Given the description of an element on the screen output the (x, y) to click on. 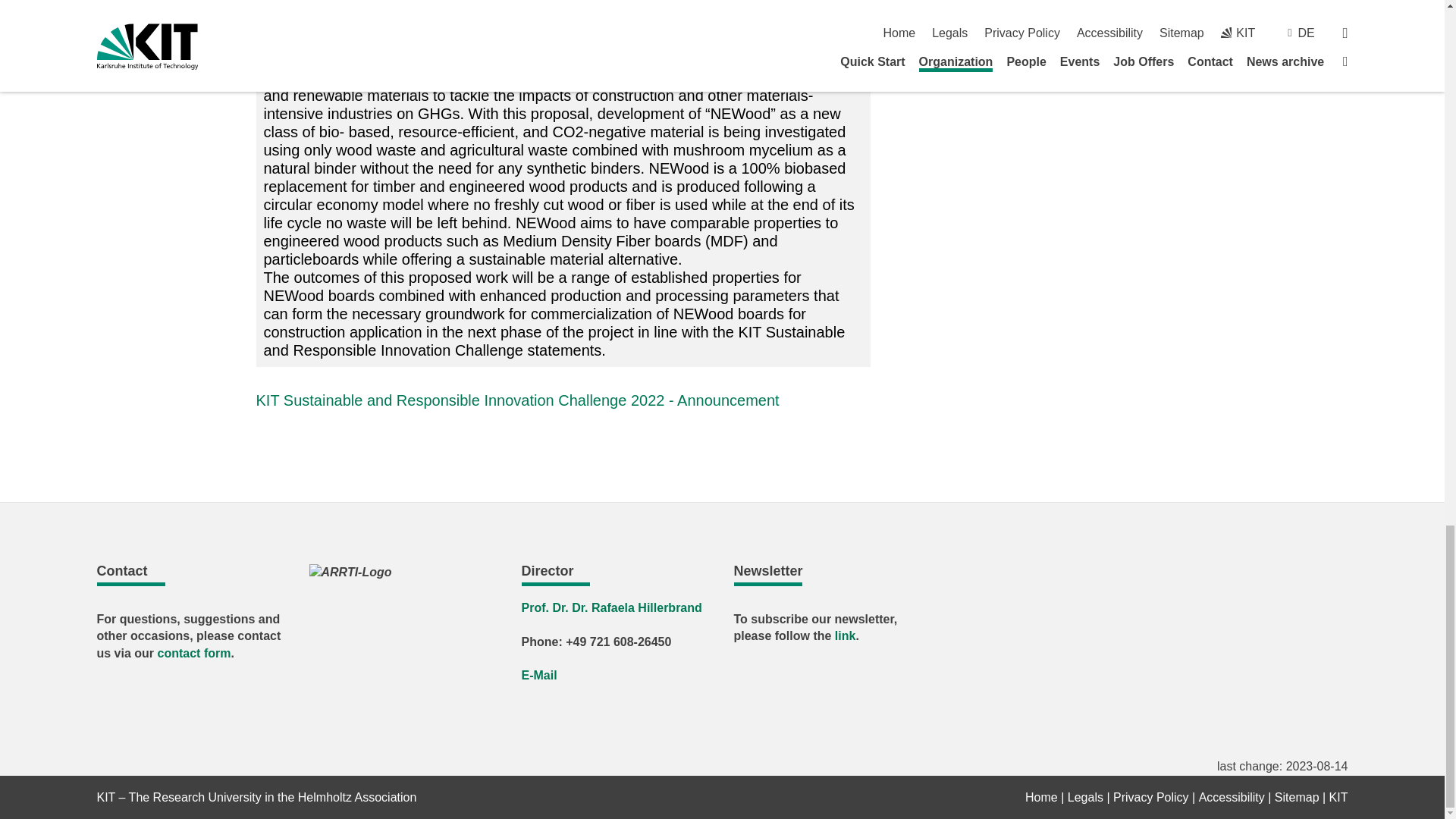
startpage (1041, 797)
